Given the description of an element on the screen output the (x, y) to click on. 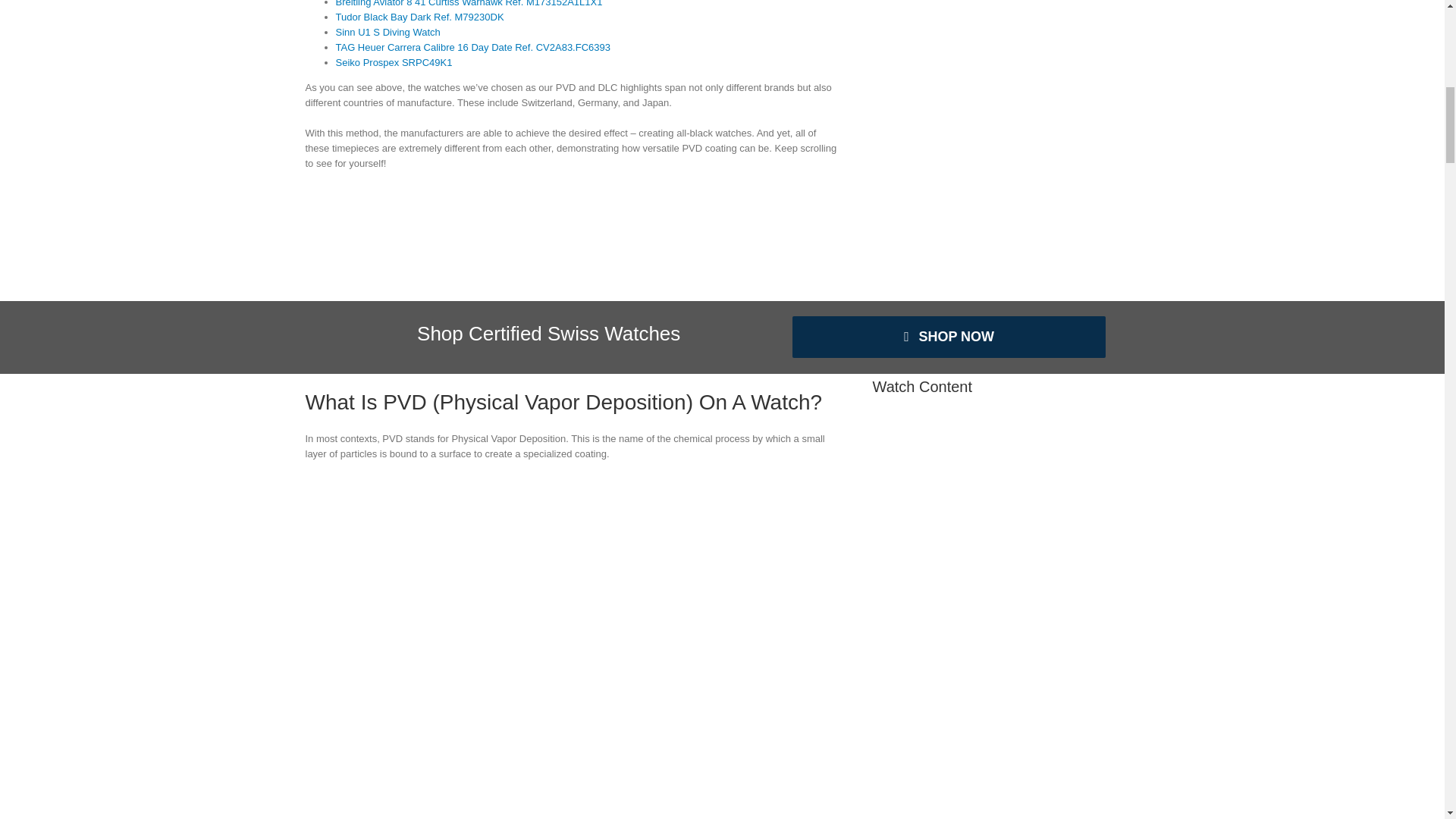
Breitling Aviator 8 41 Curtiss Warhawk Ref. M173152A1L1X1 (468, 3)
Seiko Prospex SRPC49K1 (392, 61)
Tudor Black Bay Dark Ref. M79230DK (418, 16)
SHOP NOW (949, 336)
TAG Heuer Carrera Calibre 16 Day Date Ref. CV2A83.FC6393 (472, 47)
Sinn U1 S Diving Watch (386, 31)
